Given the description of an element on the screen output the (x, y) to click on. 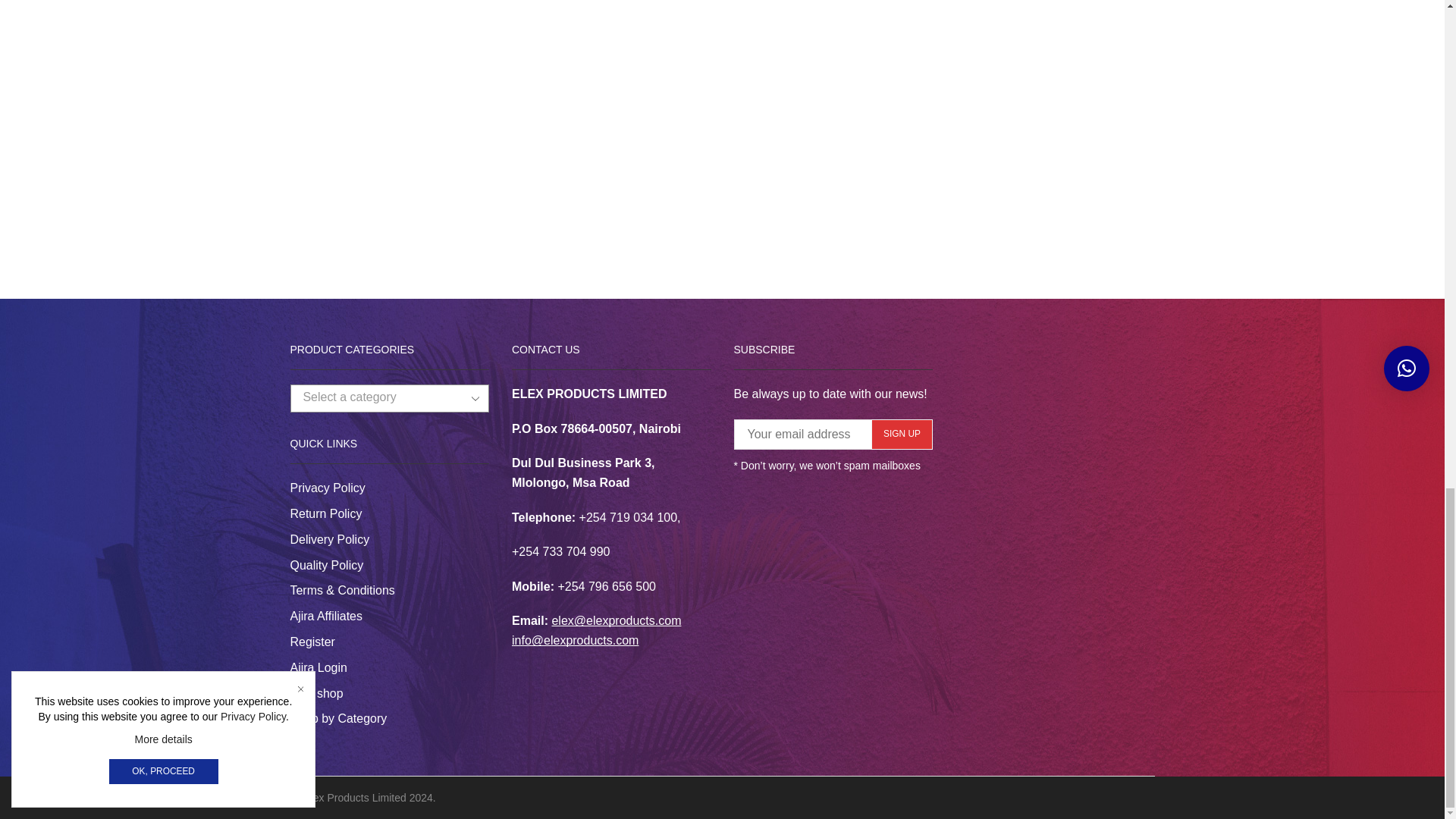
Sign up (901, 434)
